Given the description of an element on the screen output the (x, y) to click on. 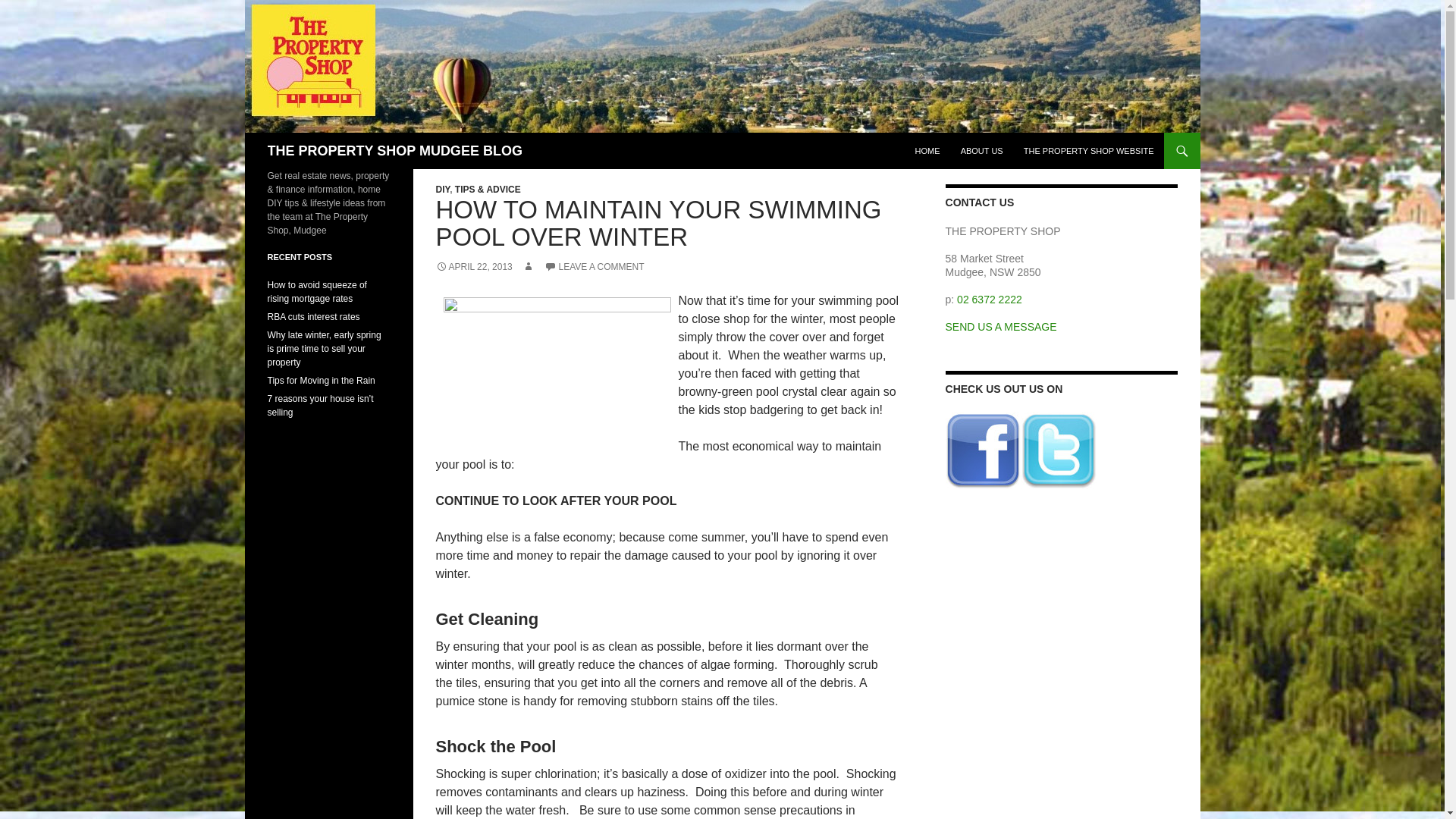
APRIL 22, 2013 (473, 266)
RBA cuts interest rates (312, 317)
SEND US A MESSAGE (1000, 326)
SKIP TO CONTENT (951, 138)
LEAVE A COMMENT (593, 266)
How to avoid squeeze of rising mortgage rates (316, 291)
Tips for Moving in the Rain (320, 380)
Sparkling pool (555, 372)
THE PROPERTY SHOP WEBSITE (1088, 150)
